Given the description of an element on the screen output the (x, y) to click on. 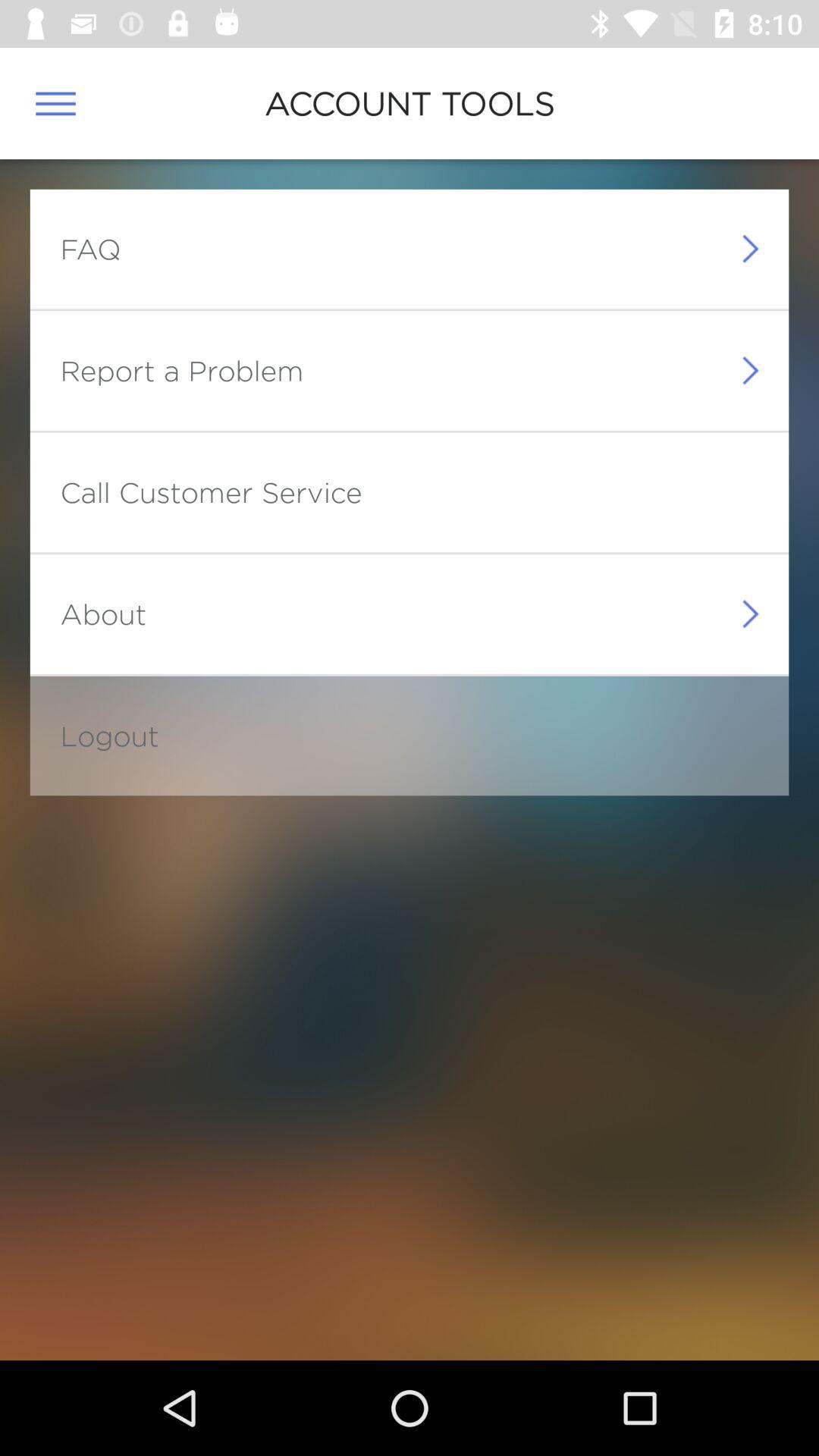
click the about app (103, 613)
